Given the description of an element on the screen output the (x, y) to click on. 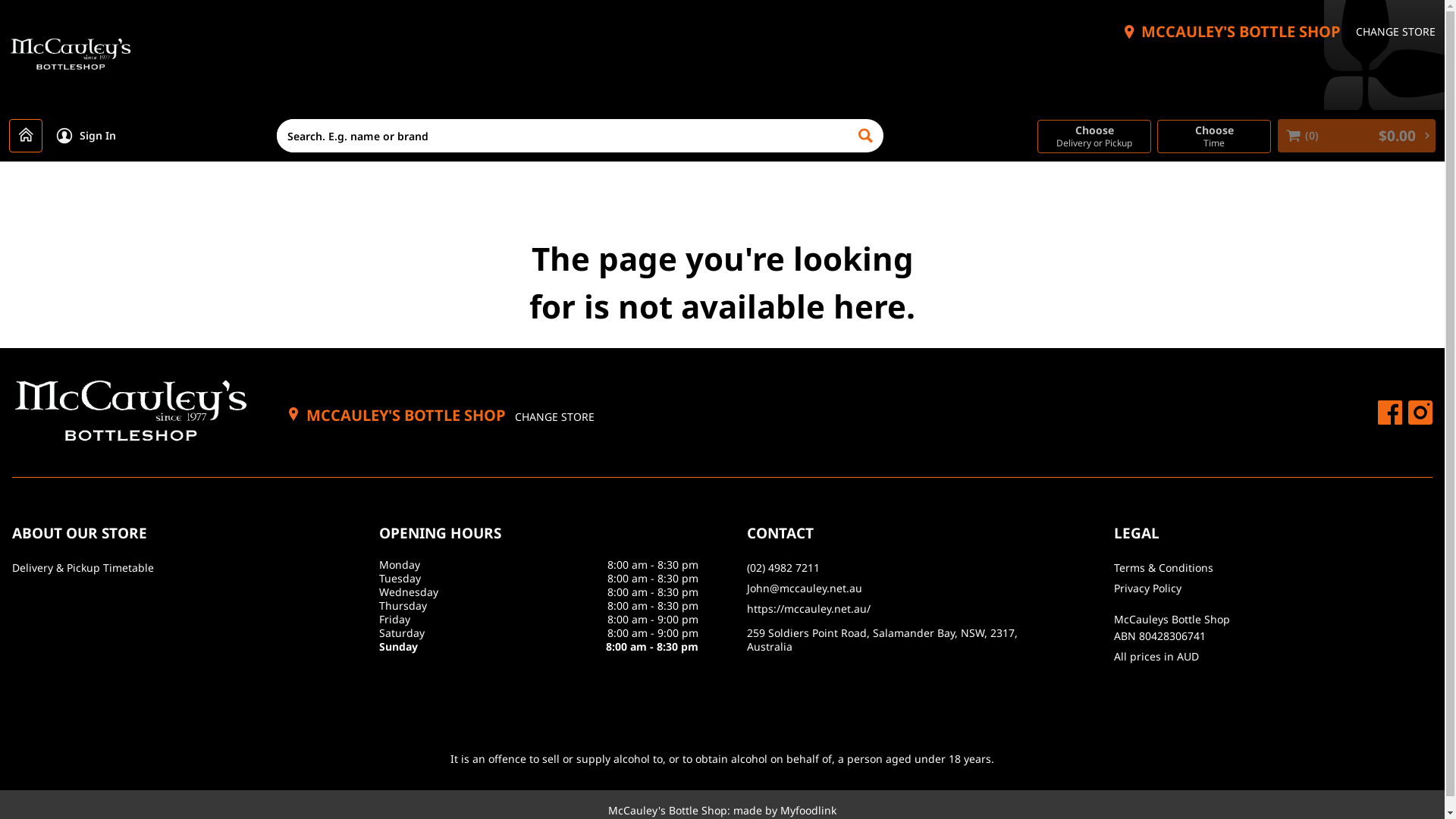
(02) 4982 7211 Element type: text (905, 568)
Choose
Time Element type: text (1213, 136)
Instagram mccauleys_bottleshop Element type: hover (1420, 412)
Myfoodlink Element type: text (808, 810)
(0)
$0.00 Element type: text (1356, 135)
Delivery & Pickup Timetable Element type: text (171, 568)
CHANGE STORE Element type: text (1395, 31)
Privacy Policy Element type: text (1272, 588)
https://mccauley.net.au/ Element type: text (905, 609)
MCCAULEY'S BOTTLE SHOP CHANGE STORE Element type: text (440, 415)
Facebook Element type: hover (1389, 412)
Terms & Conditions Element type: text (1272, 568)
MCCAULEY'S BOTTLE SHOP Element type: text (1240, 31)
John@mccauley.net.au Element type: text (905, 588)
Sign In Element type: text (85, 135)
Search Element type: hover (866, 135)
Choose
Delivery or Pickup Element type: text (1094, 136)
